Given the description of an element on the screen output the (x, y) to click on. 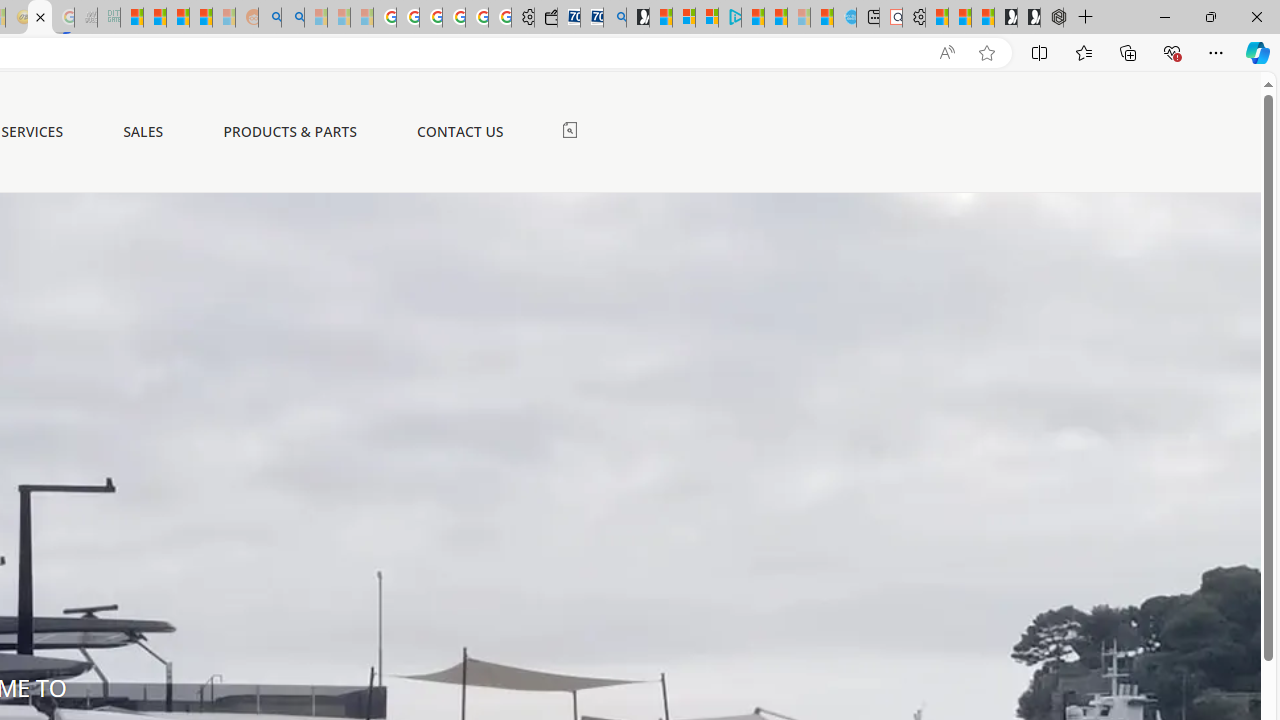
CONTACT US (459, 131)
CONTACT US (459, 132)
